Given the description of an element on the screen output the (x, y) to click on. 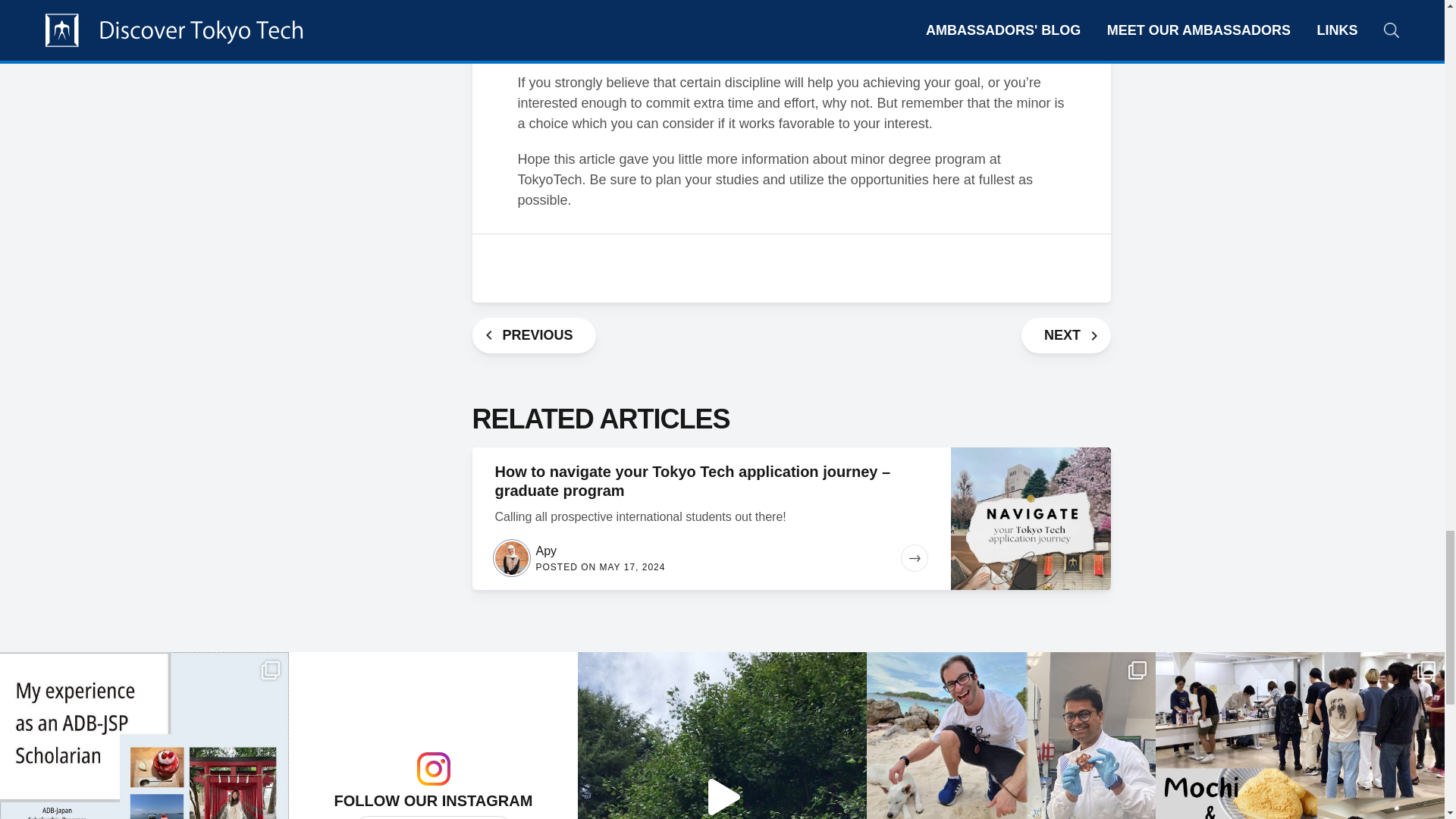
PREVIOUS (533, 334)
NEXT (1066, 334)
